Given the description of an element on the screen output the (x, y) to click on. 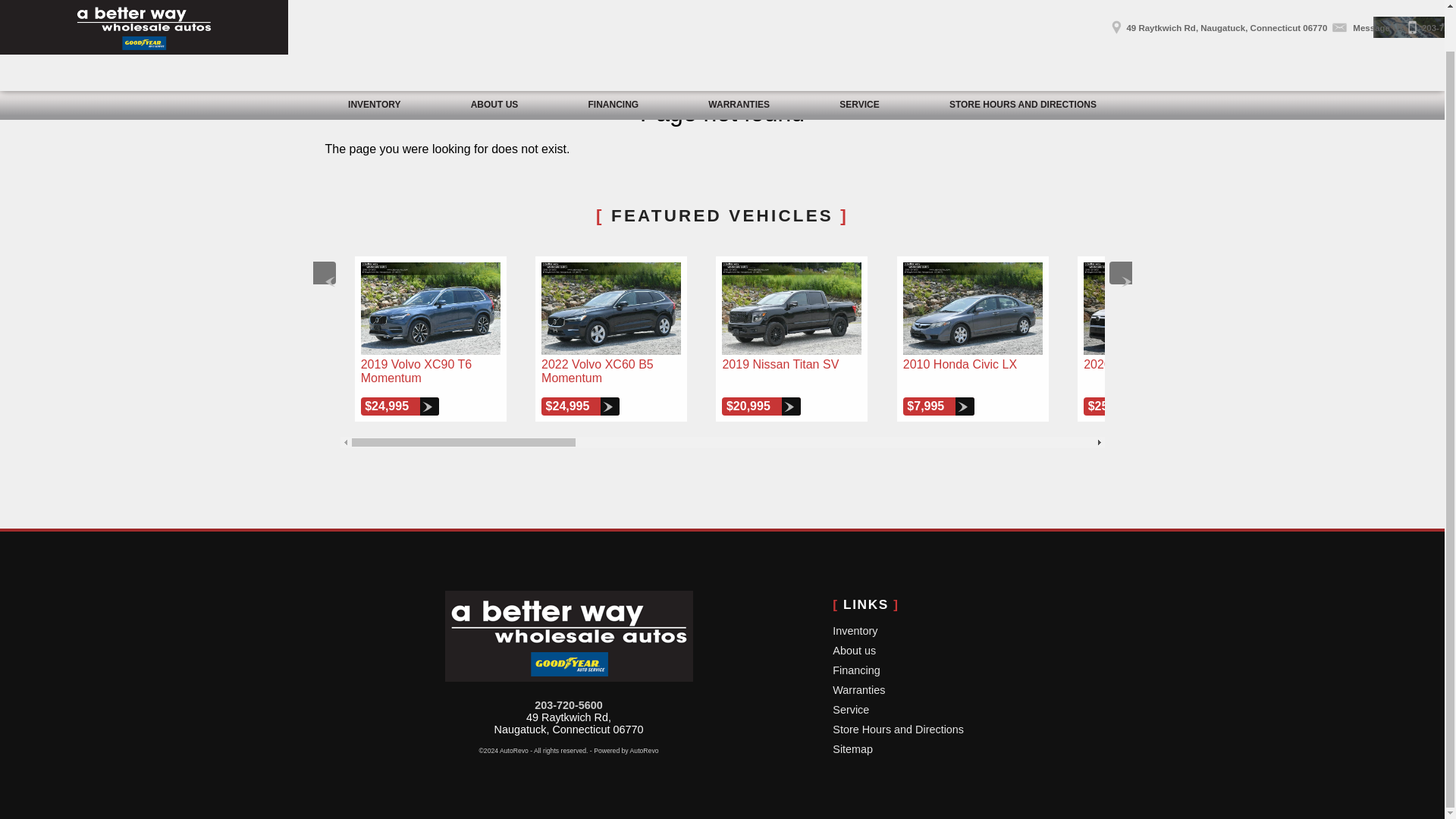
STORE HOURS AND DIRECTIONS (1022, 61)
INVENTORY (374, 61)
2019 Volvo XC90 T6 Momentum in Naugatuck, Connecticut 06770 (430, 308)
2016 Nissan Frontier SV in Naugatuck, Connecticut 06770 (1335, 308)
WARRANTIES (739, 61)
A Better Way Wholesale Autos-CT (144, 4)
A Better Way Wholesale Autos-CT (568, 635)
ABOUT US (494, 61)
FINANCING (612, 61)
SERVICE (859, 61)
2010 Honda Civic LX in Naugatuck, Connecticut 06770 (972, 308)
2022 Volvo XC60 B5 Momentum in Naugatuck, Connecticut 06770 (611, 308)
2020 Toyota RAV4 XLE in Naugatuck, Connecticut 06770 (1153, 308)
2019 Nissan Titan SV in Naugatuck, Connecticut 06770 (791, 308)
